Given the description of an element on the screen output the (x, y) to click on. 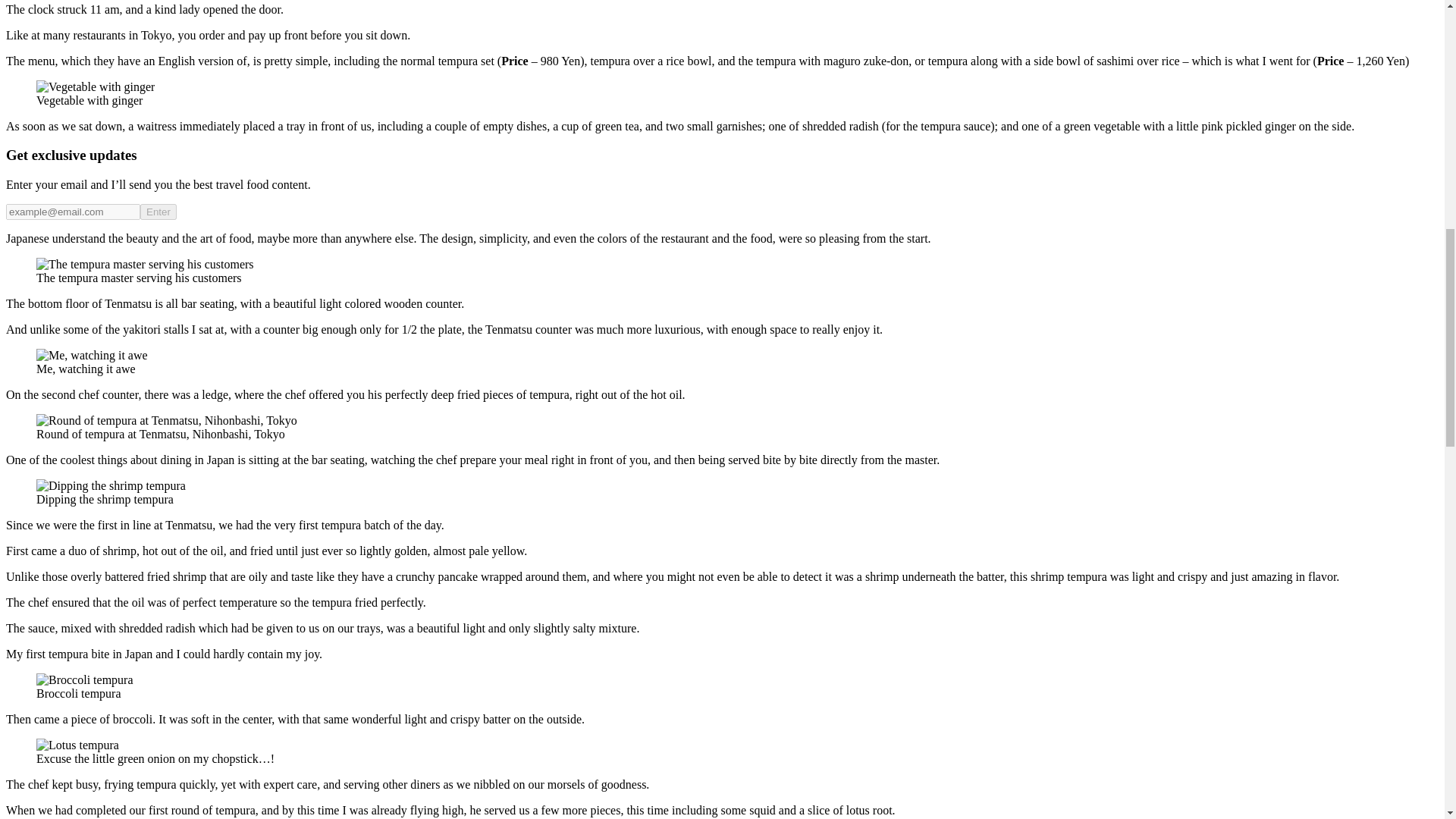
Round of tempura at Tenmatsu, Nihonbashi, Tokyo (166, 420)
Broccoli tempura (84, 680)
Me, watching it awe (92, 355)
The tempura master serving his customers (144, 264)
Enter (157, 211)
Vegetable with ginger (95, 87)
Dipping the shrimp tempura (111, 486)
Excuse the little green onion on my chopstick...! (77, 745)
